Given the description of an element on the screen output the (x, y) to click on. 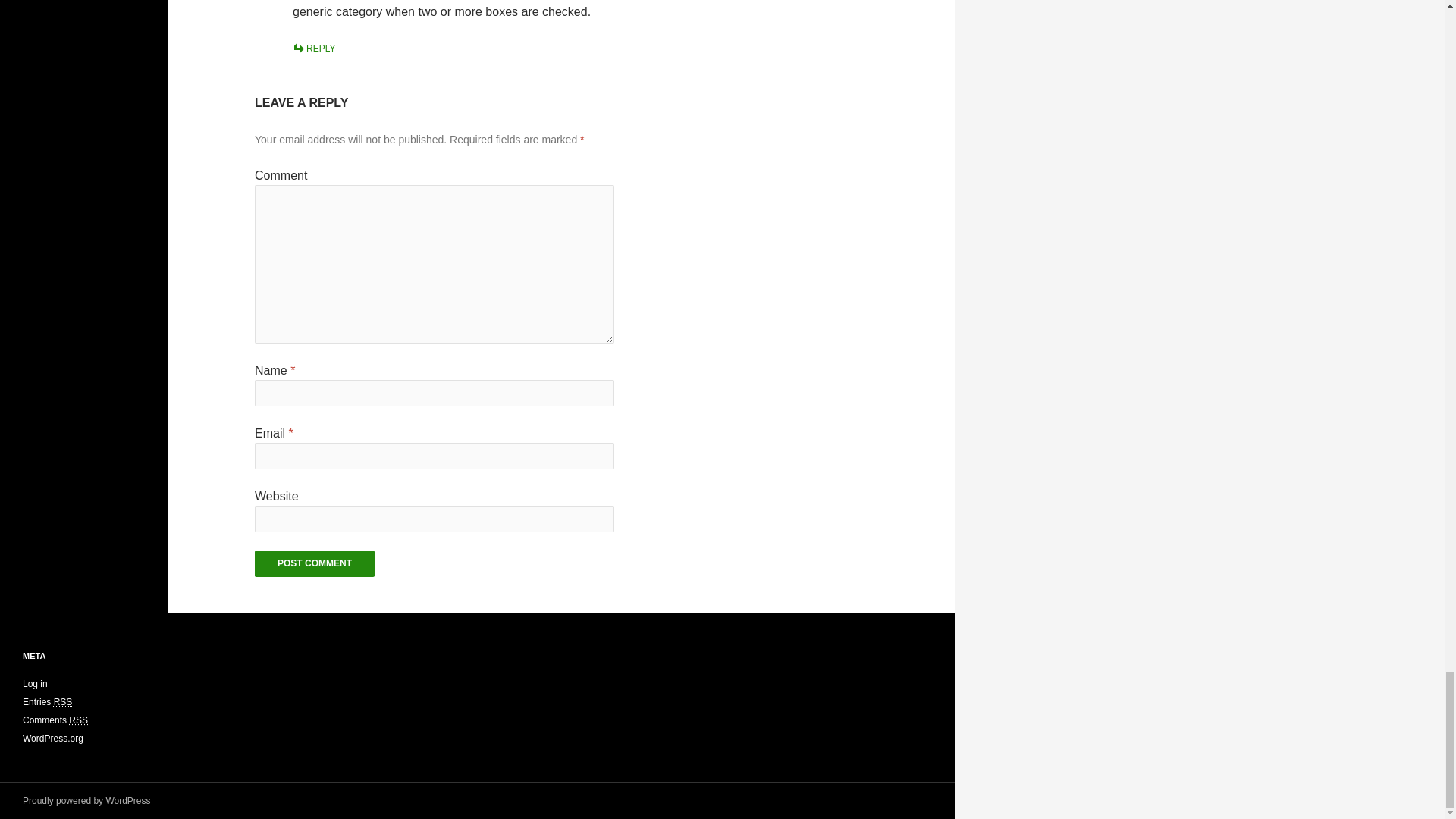
Post Comment (314, 563)
Really Simple Syndication (77, 720)
Really Simple Syndication (62, 702)
